Given the description of an element on the screen output the (x, y) to click on. 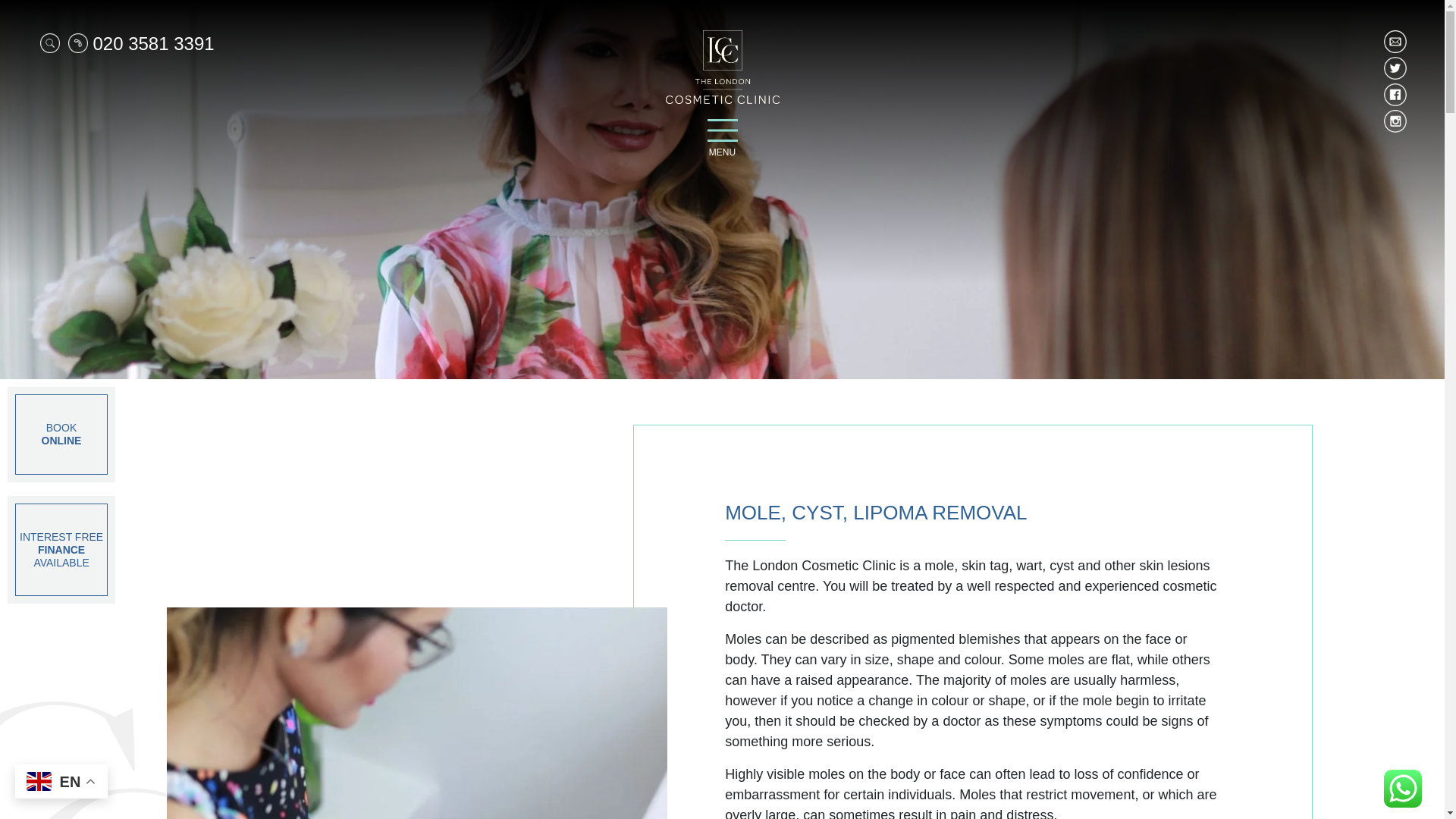
020 3581 3391 (141, 49)
